Given the description of an element on the screen output the (x, y) to click on. 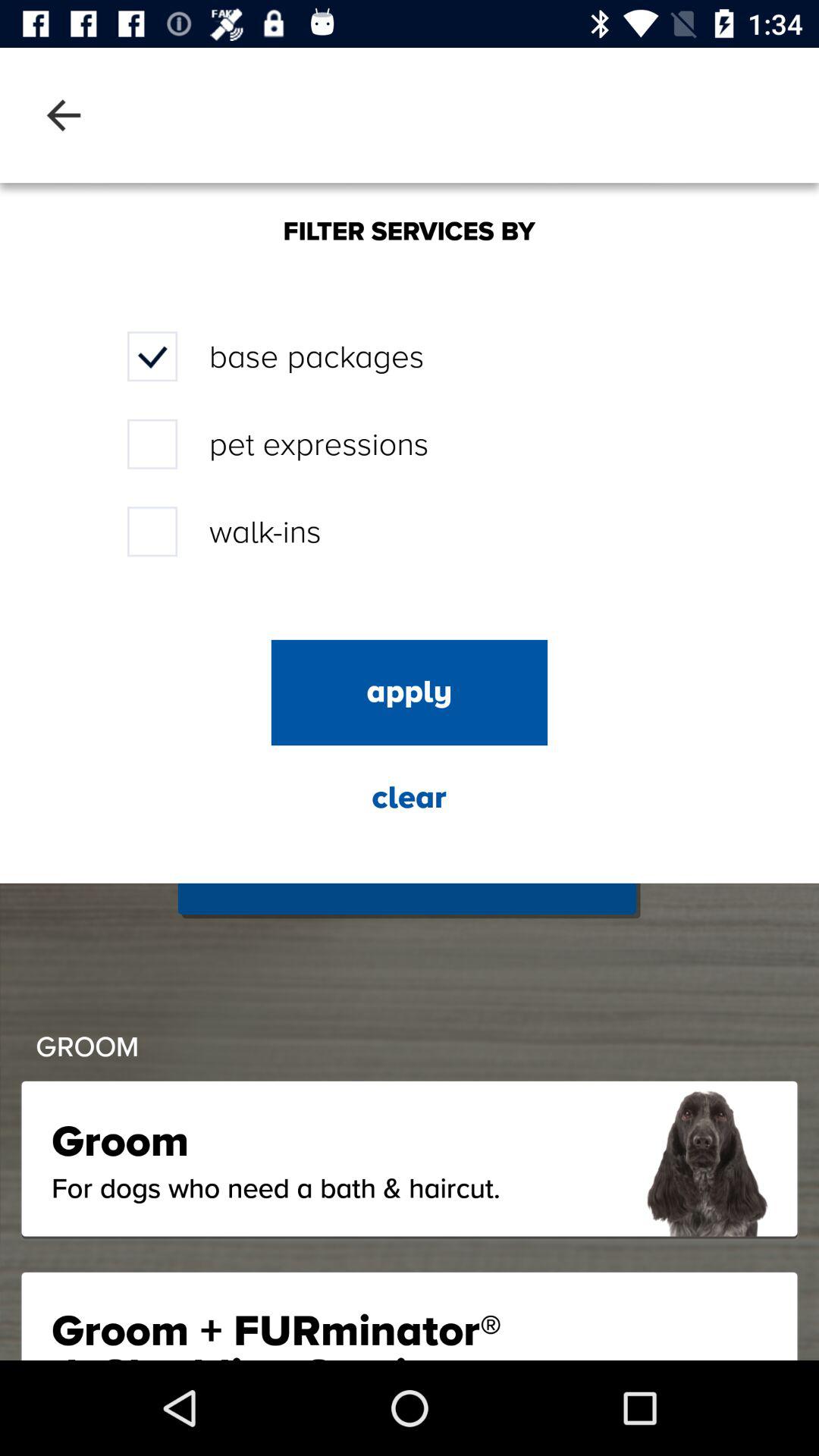
choose the icon below apply (409, 798)
